Given the description of an element on the screen output the (x, y) to click on. 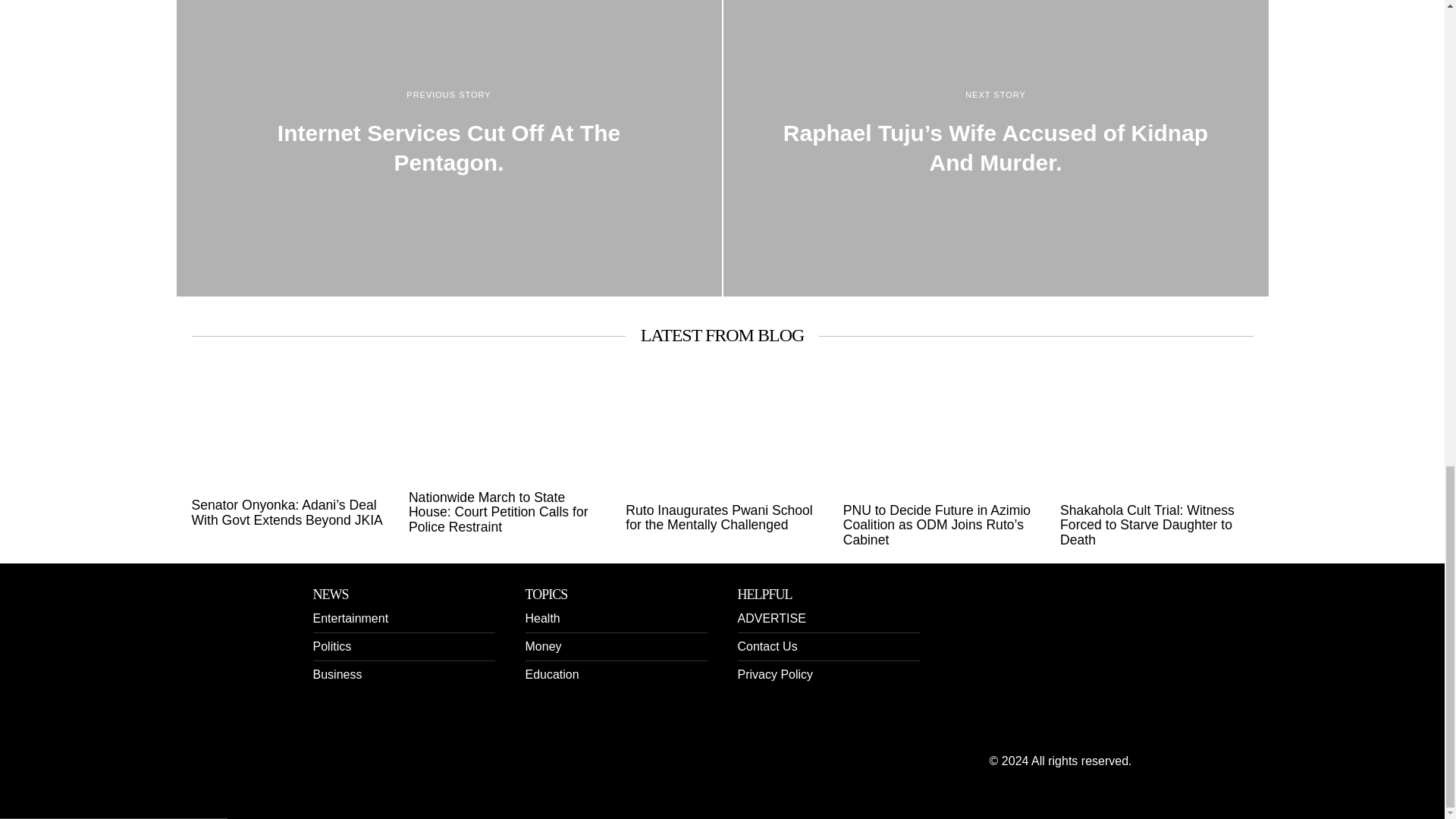
Entertainment (350, 617)
Money (542, 645)
Ruto Inaugurates Pwani School for the Mentally Challenged (722, 518)
Business (337, 674)
Politics (331, 645)
Health (541, 617)
